Given the description of an element on the screen output the (x, y) to click on. 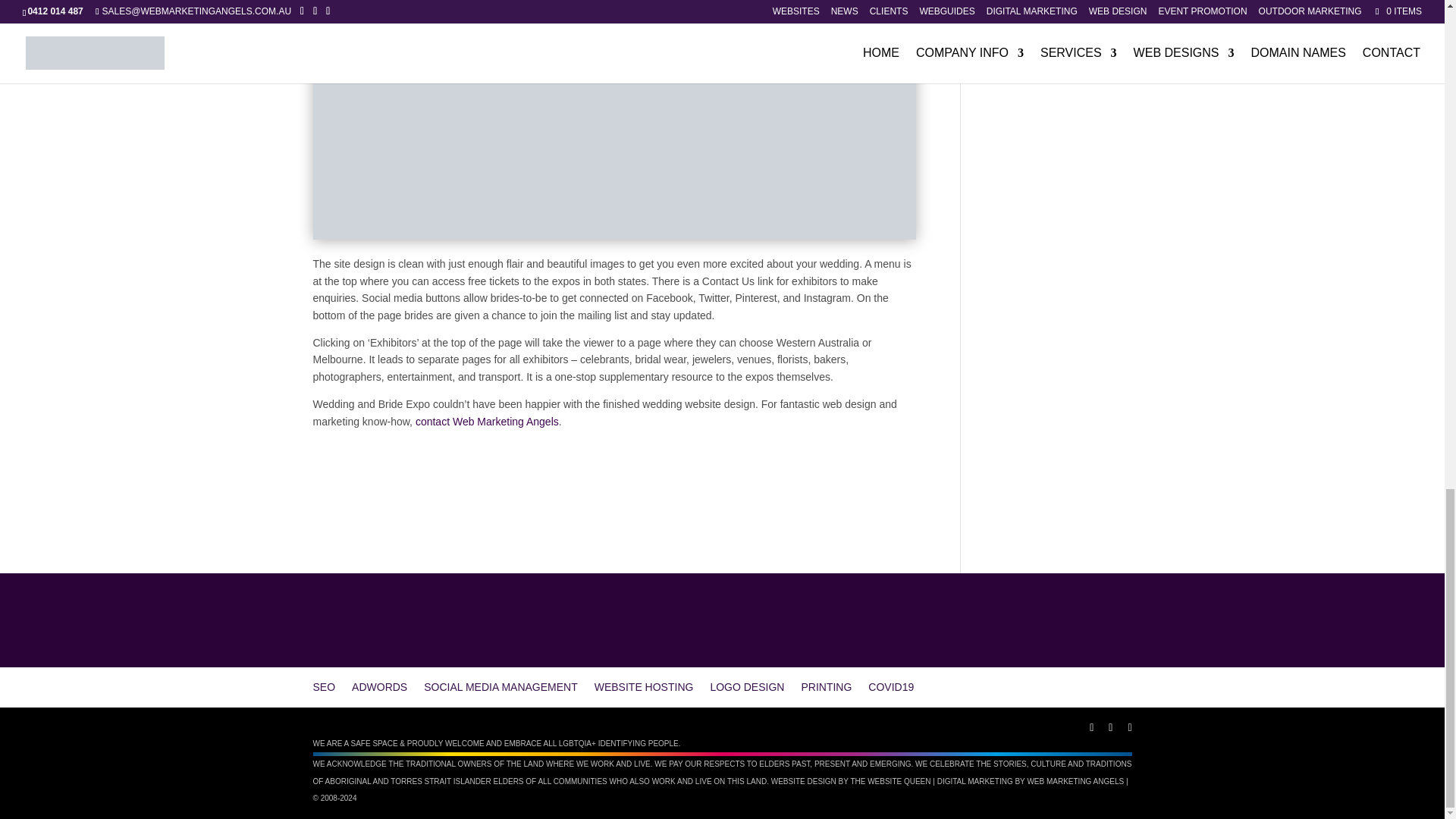
Melbourne Digital Marketing Services (1075, 781)
Officer Website Design Melbourne (890, 781)
